Given the description of an element on the screen output the (x, y) to click on. 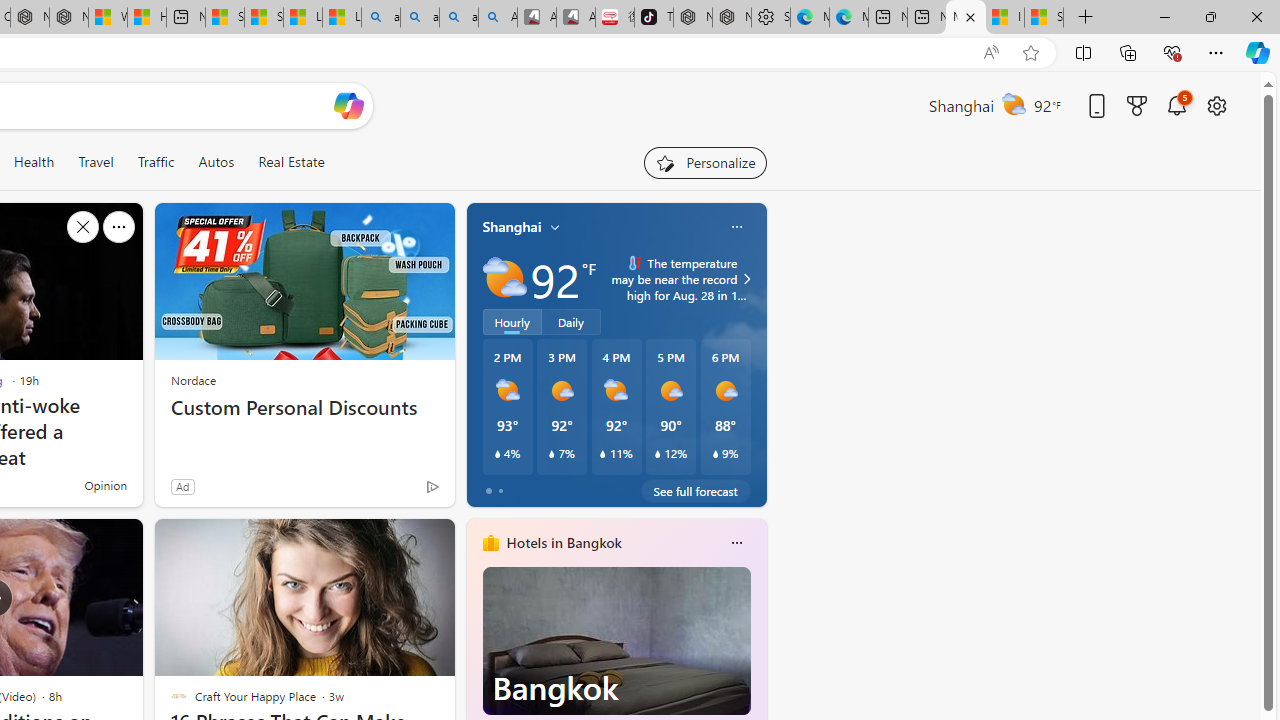
Class: weather-arrow-glyph (746, 278)
Partly sunny (504, 278)
Autos (215, 161)
